Given the description of an element on the screen output the (x, y) to click on. 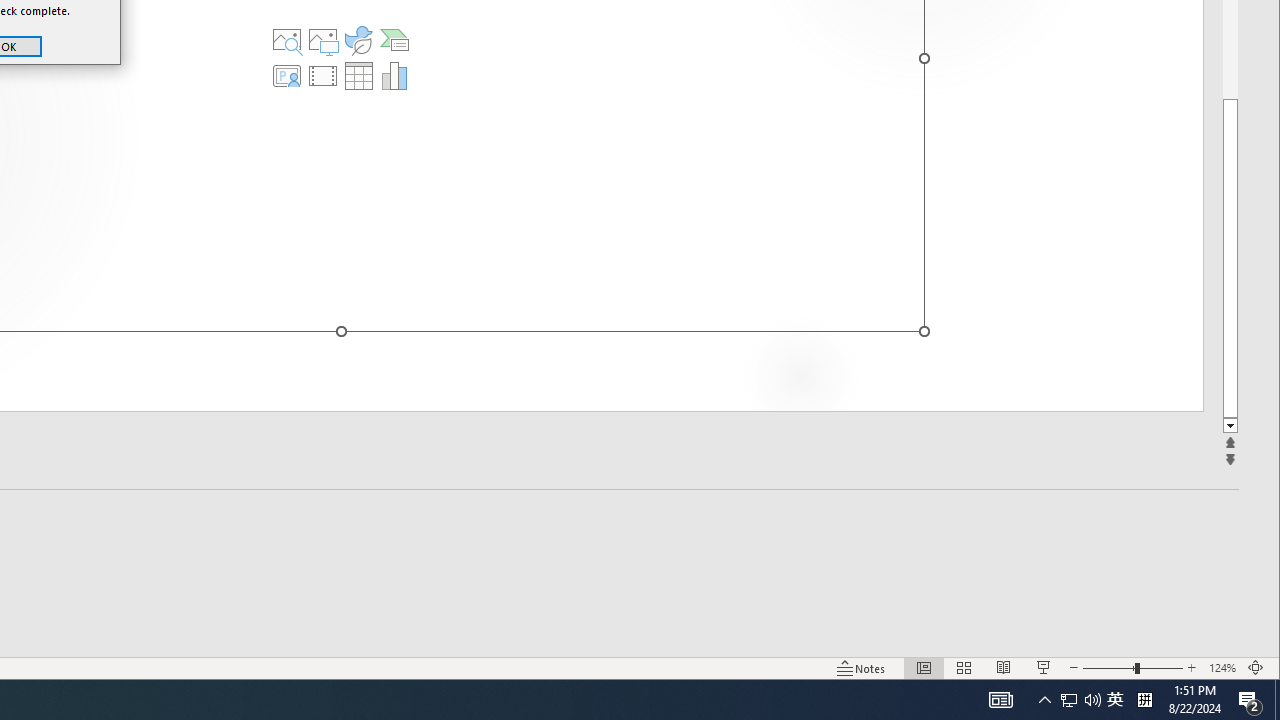
Stock Images (287, 39)
Insert Video (323, 75)
Insert Table (359, 75)
Insert an Icon (359, 39)
Zoom 124% (1222, 668)
